Given the description of an element on the screen output the (x, y) to click on. 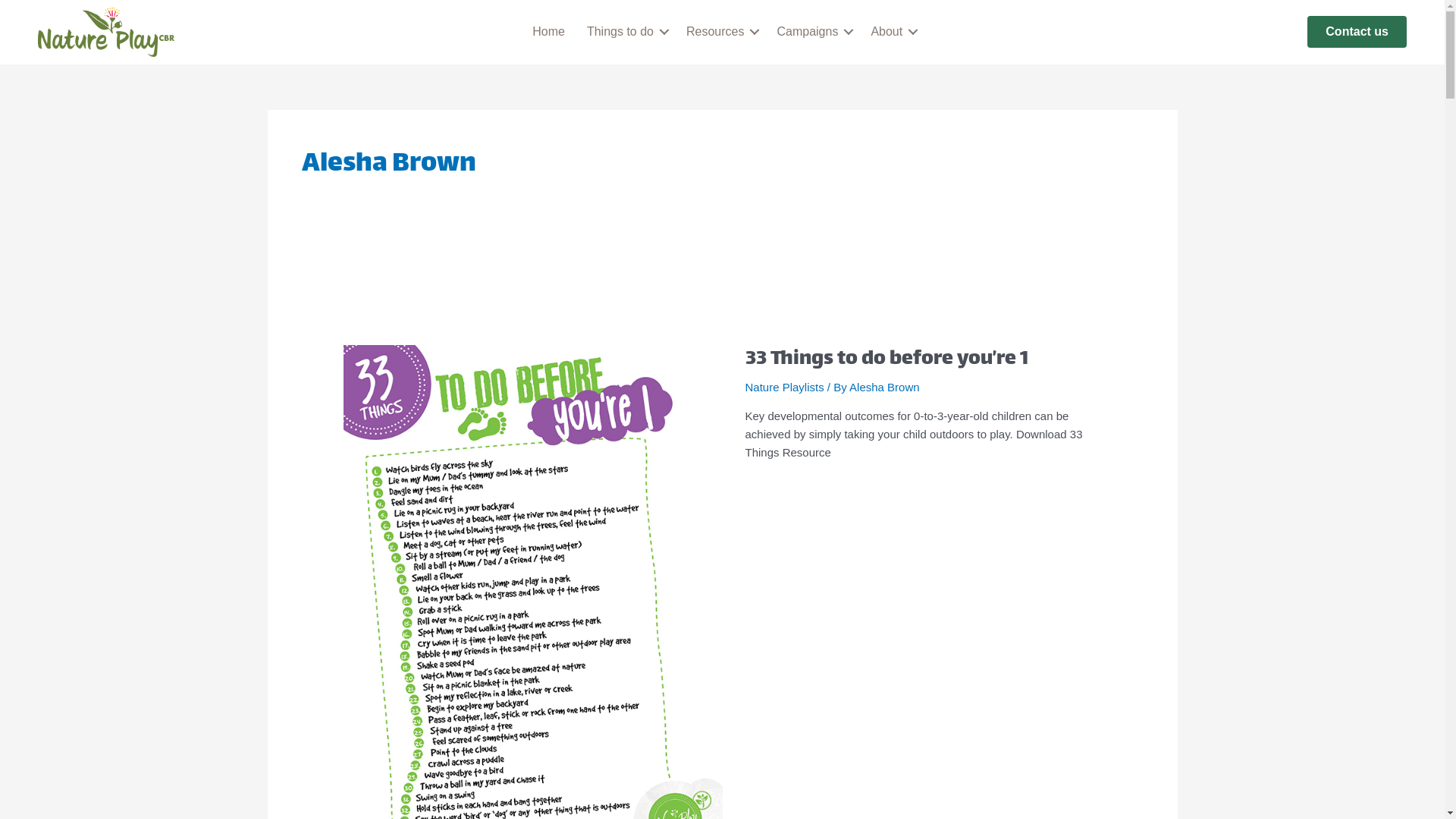
Campaigns Element type: text (812, 31)
Resources Element type: text (720, 31)
Things to do Element type: text (625, 31)
Nature Playlists Element type: text (783, 386)
Contact us Element type: text (1356, 31)
About Element type: text (891, 31)
Alesha Brown Element type: text (884, 386)
NPlayCBR-logo-col Element type: hover (105, 31)
Home Element type: text (548, 31)
